Given the description of an element on the screen output the (x, y) to click on. 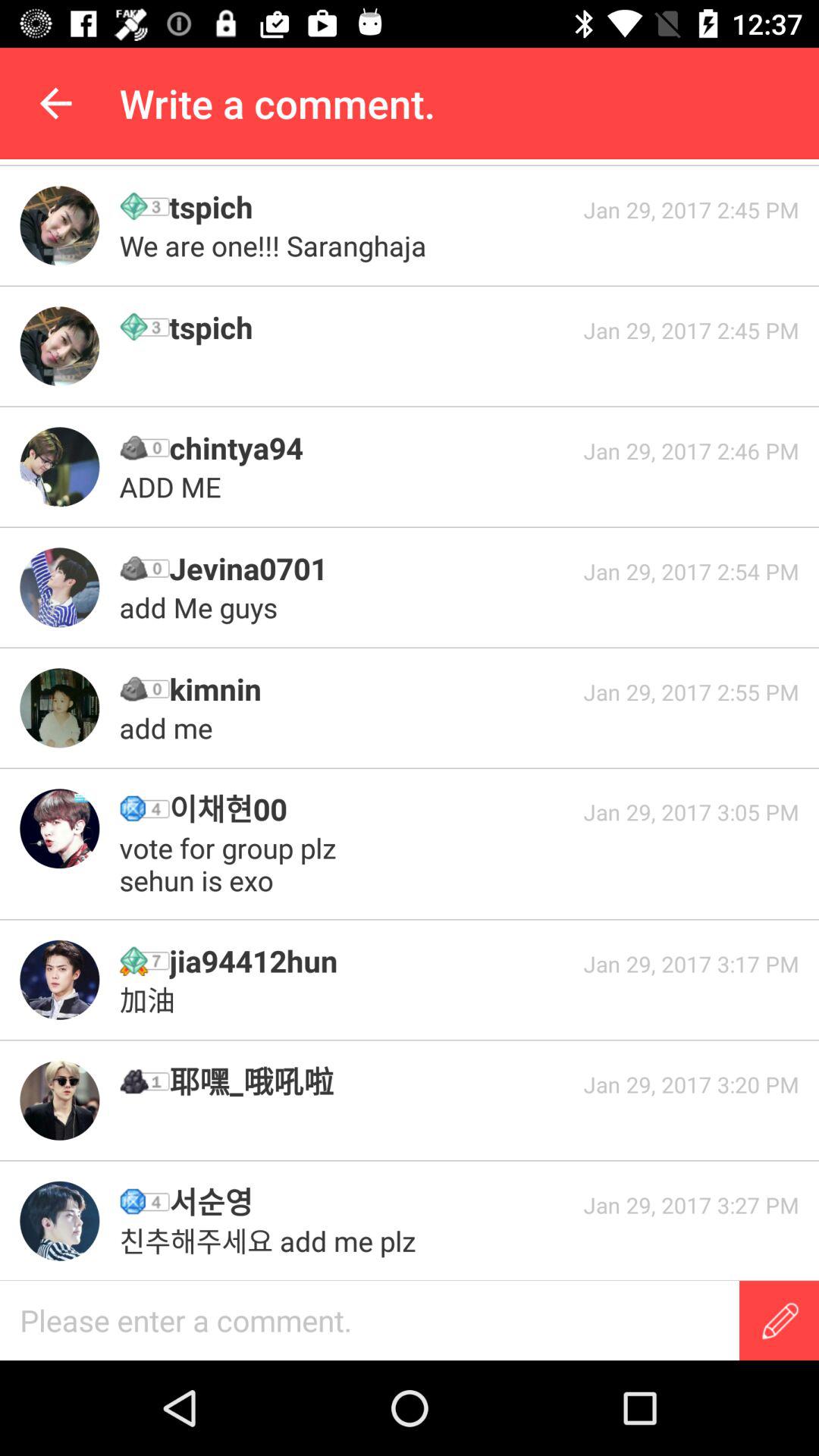
scroll to the kimnin (371, 688)
